Given the description of an element on the screen output the (x, y) to click on. 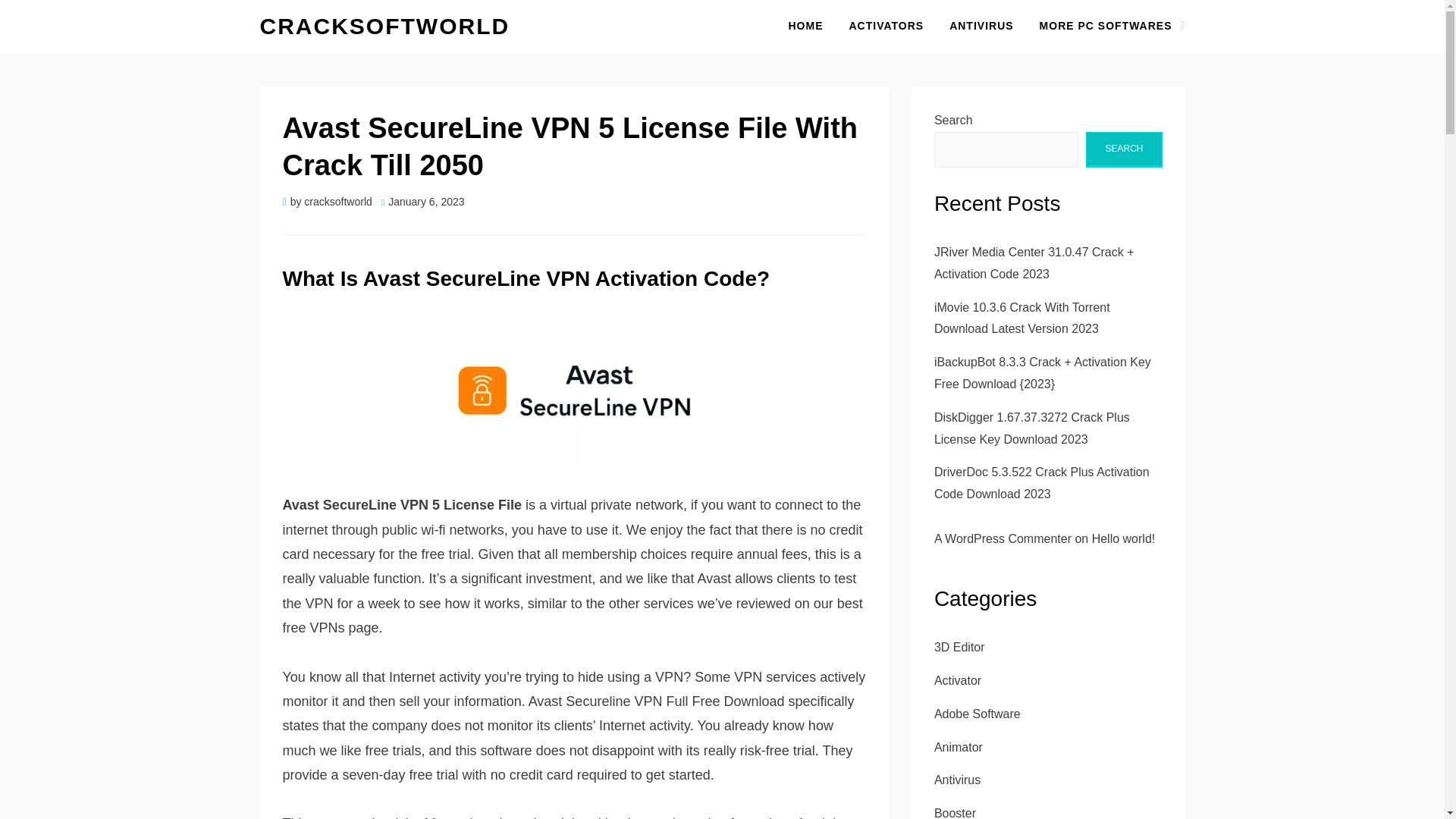
January 6, 2023 (422, 201)
Activator (957, 680)
ANTIVIRUS (981, 26)
CRACKSOFTWORLD (384, 25)
MORE PC SOFTWARES (1105, 26)
DriverDoc 5.3.522 Crack Plus Activation Code Download 2023 (1042, 483)
Hello world! (1124, 538)
SEARCH (1123, 149)
DiskDigger 1.67.37.3272 Crack Plus License Key Download 2023 (1031, 428)
cracksoftworld (337, 201)
A WordPress Commenter (1002, 538)
3D Editor (959, 646)
ACTIVATORS (885, 26)
cracksoftworld (384, 25)
